Given the description of an element on the screen output the (x, y) to click on. 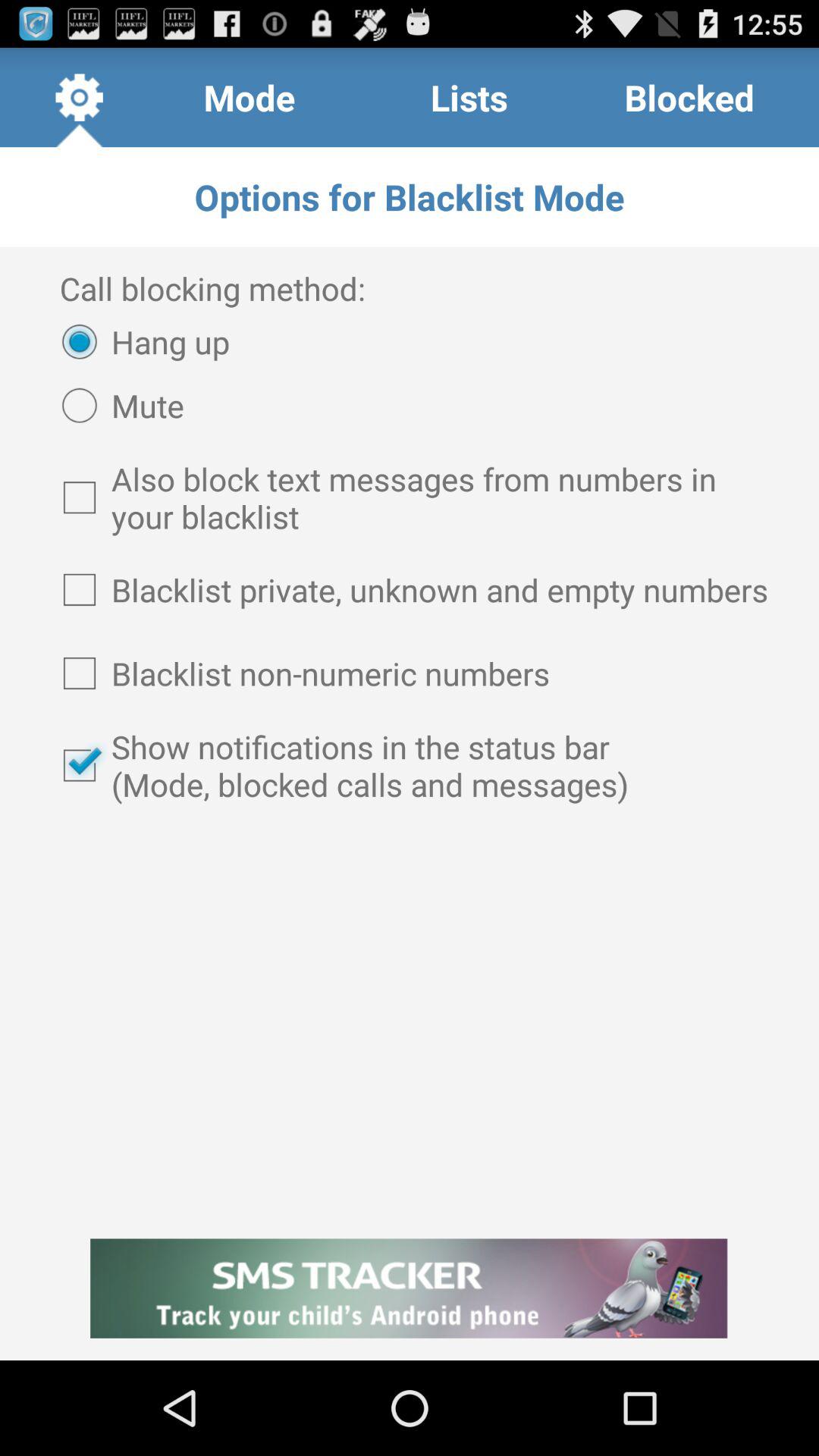
turn on the checkbox above blacklist private unknown (409, 497)
